Given the description of an element on the screen output the (x, y) to click on. 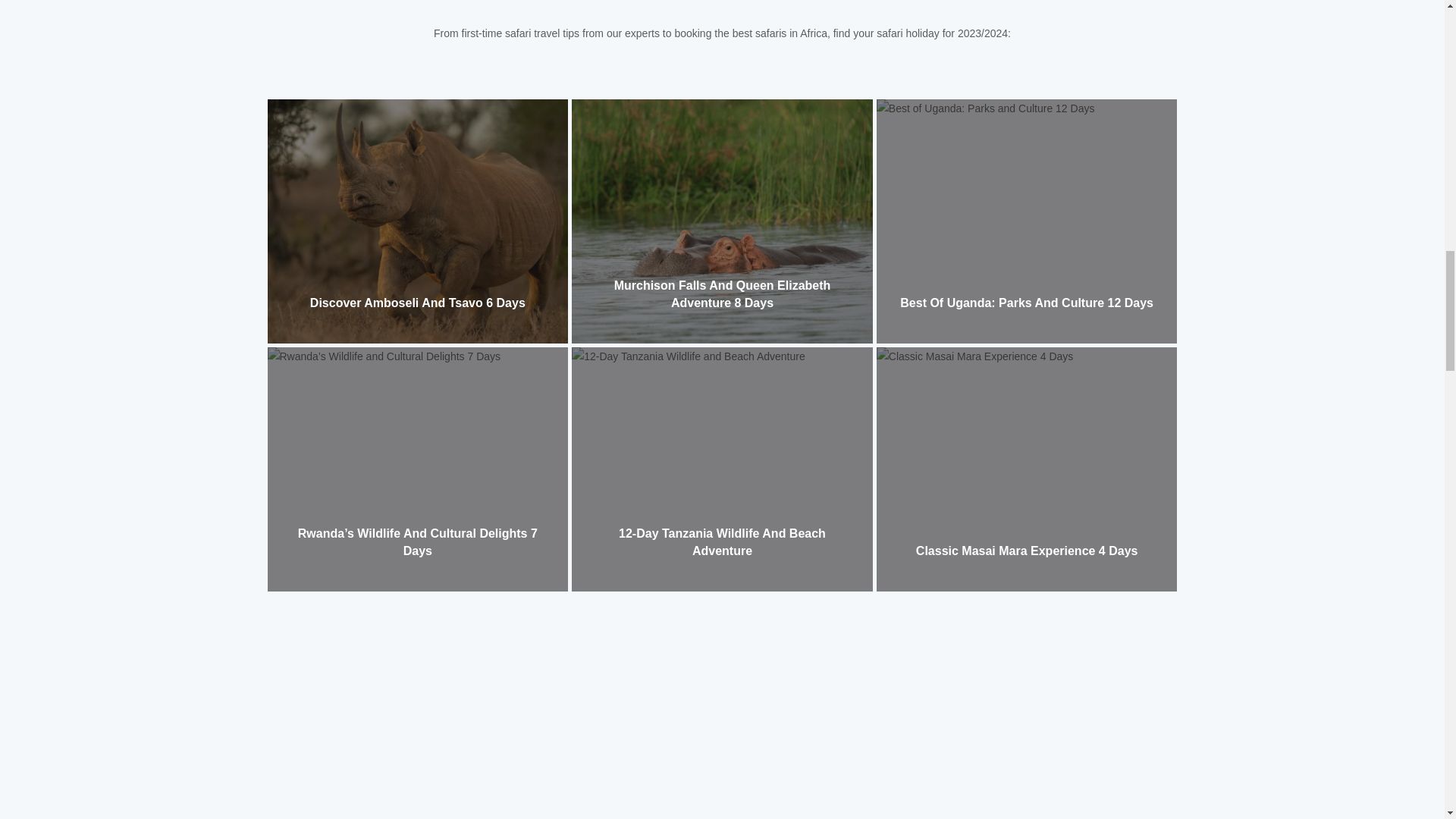
12-Day Tanzania Wildlife and Beach Adventure (721, 541)
Murchison Falls and Queen Elizabeth Adventure 8 Days (722, 293)
Classic Masai Mara Experience 4 Days (1026, 550)
Discover Amboseli and Tsavo 6 Days (417, 302)
Best of Uganda: Parks and Culture 12 Days (1026, 302)
